Given the description of an element on the screen output the (x, y) to click on. 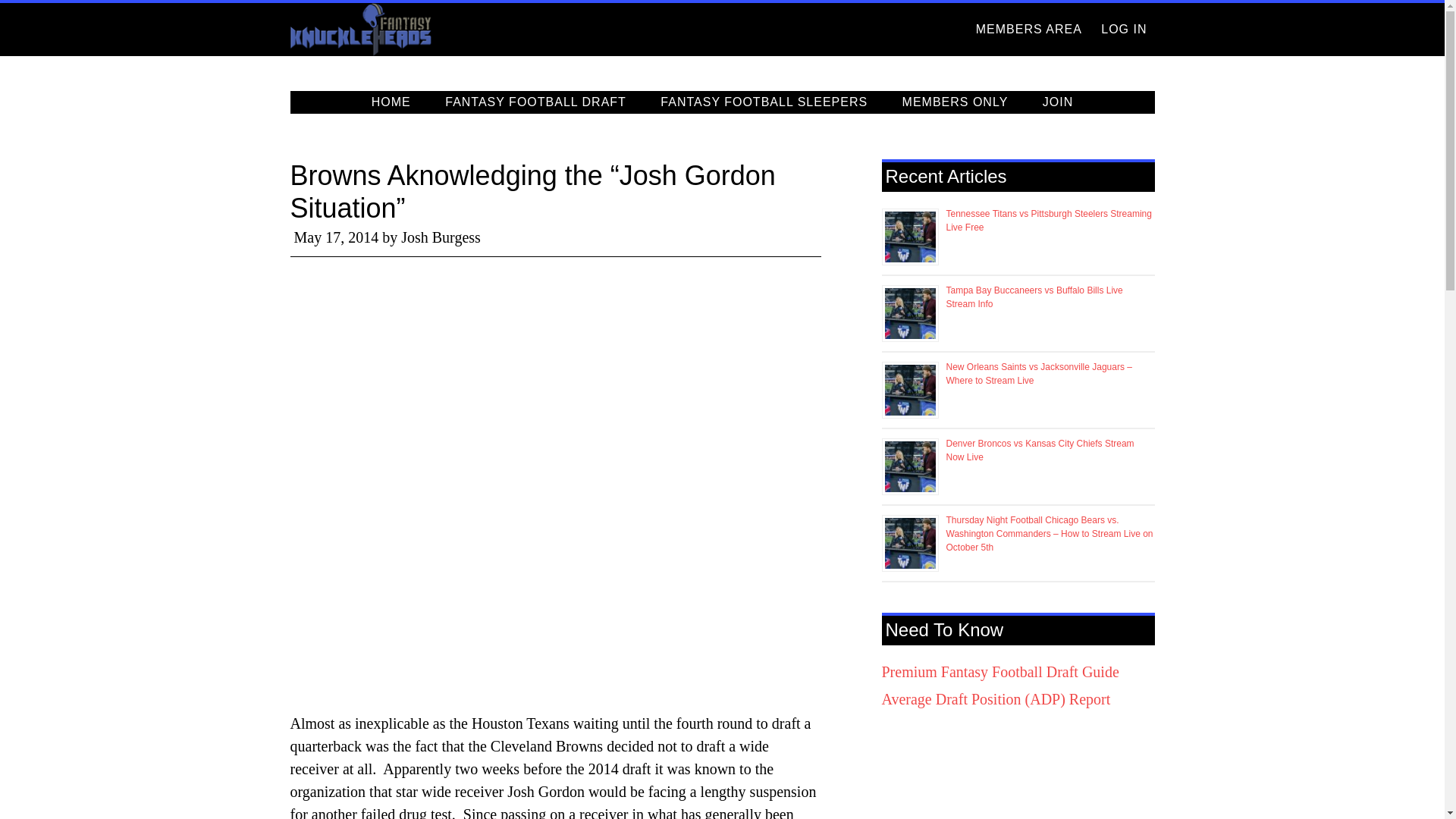
MEMBERS ONLY (954, 101)
FANTASY FOOTBALL DRAFT (535, 101)
Premium Fantasy Football Draft Guide 2017 (999, 671)
FANTASY KNUCKLEHEADS (425, 29)
JOIN (1057, 101)
MEMBERS AREA (1028, 29)
Tampa Bay Buccaneers vs Buffalo Bills Live Stream Info (1034, 297)
FANTASY FOOTBALL SLEEPERS (763, 101)
Tennessee Titans vs Pittsburgh Steelers Streaming Live Free (1048, 220)
LOG IN (1123, 29)
